Given the description of an element on the screen output the (x, y) to click on. 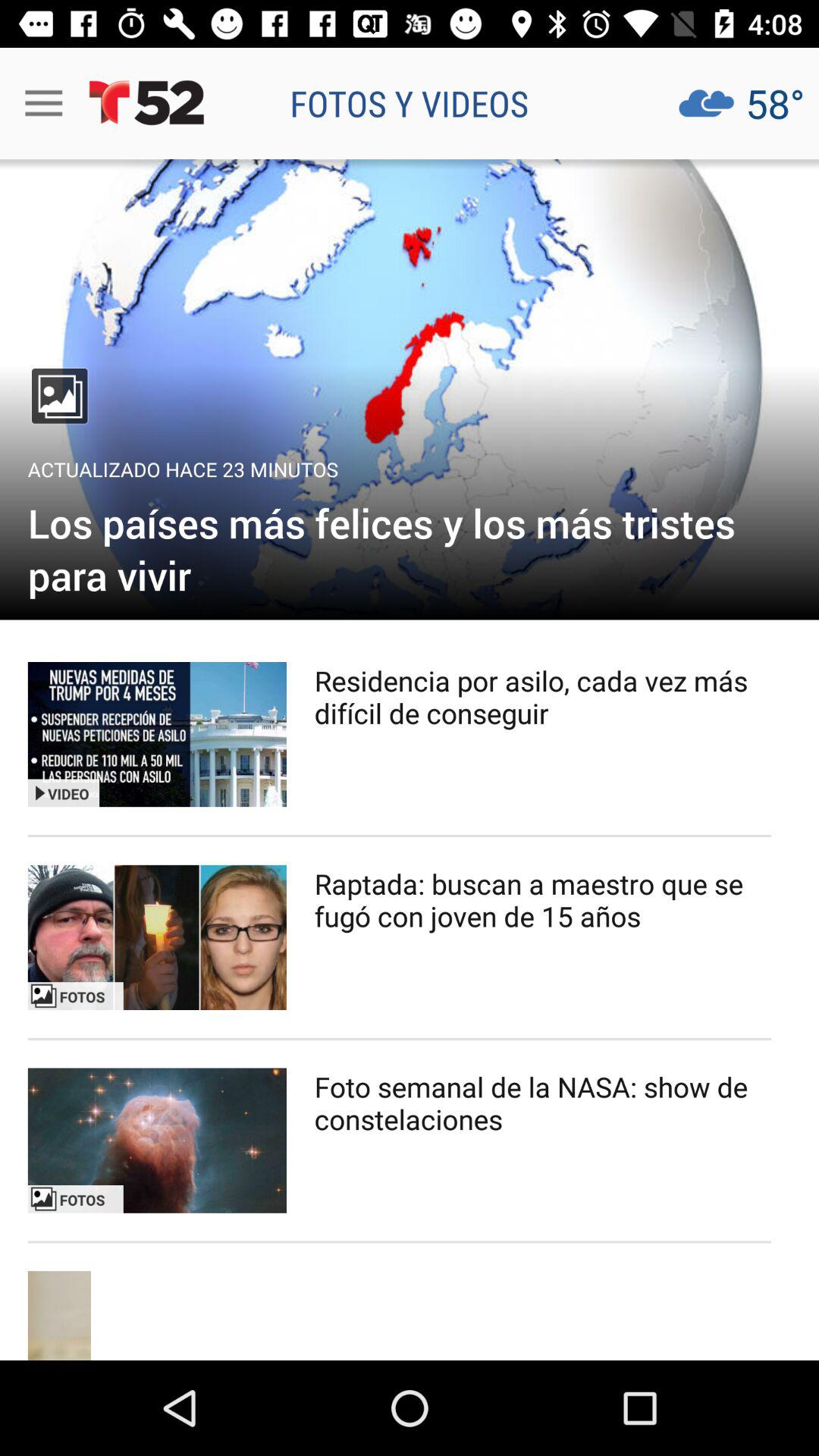
open gallery (409, 389)
